Given the description of an element on the screen output the (x, y) to click on. 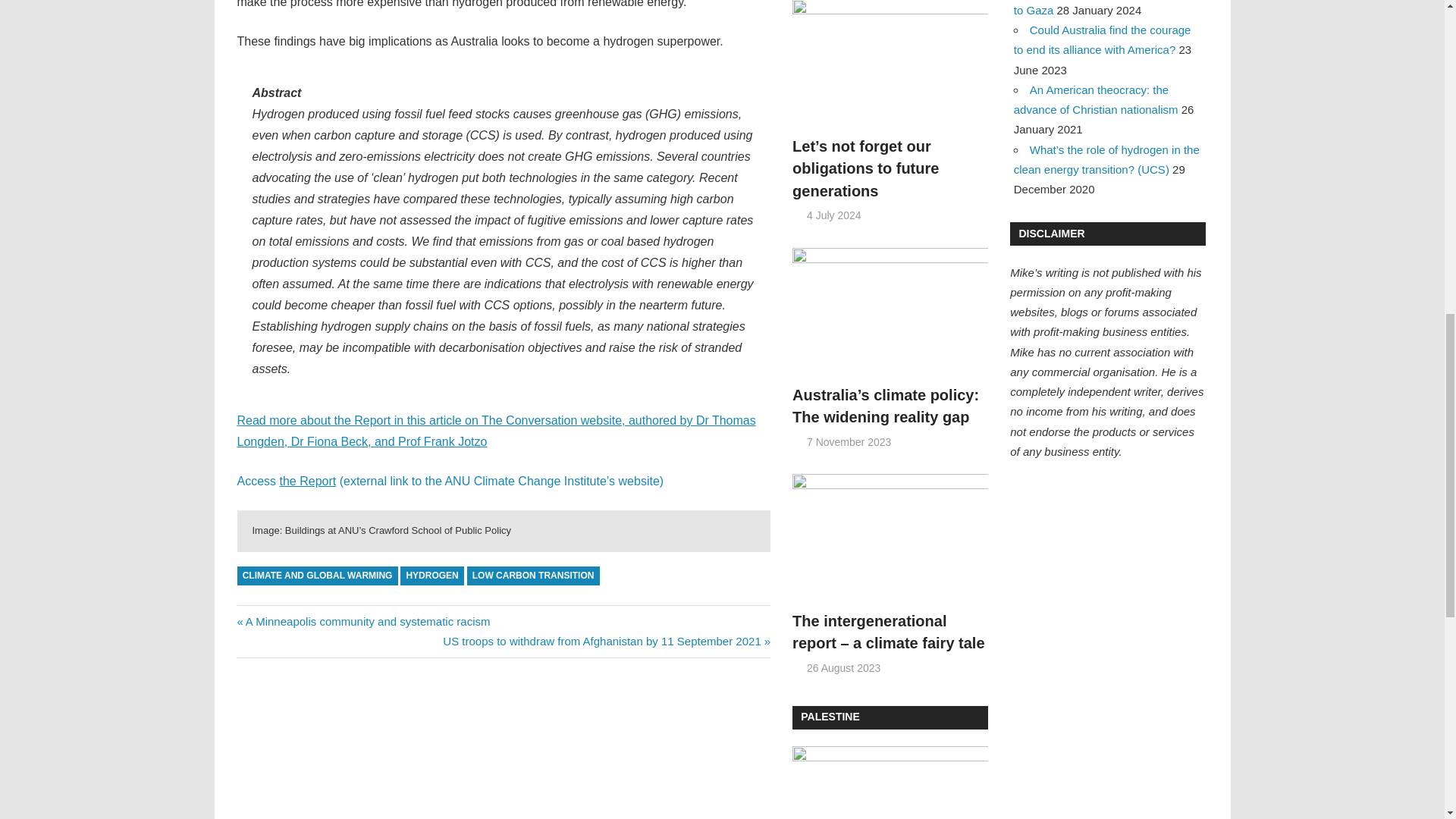
HYDROGEN (432, 575)
CLIMATE AND GLOBAL WARMING (316, 575)
4 July 2024 (833, 215)
the Report (307, 481)
LOW CARBON TRANSITION (533, 575)
10:41 pm (833, 215)
2:23 pm (848, 441)
